Given the description of an element on the screen output the (x, y) to click on. 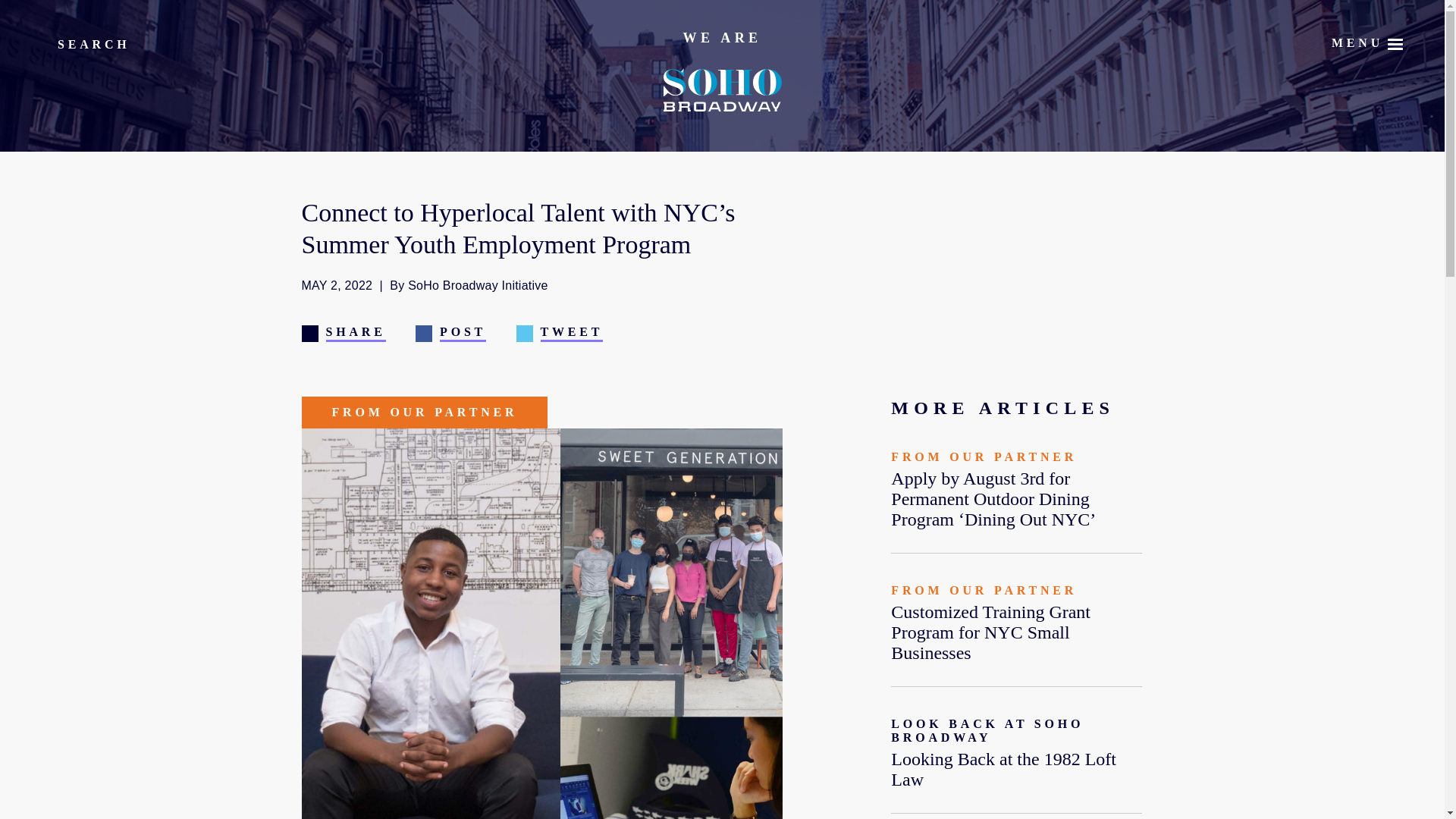
SHARE (343, 331)
MENU (1356, 40)
POST (450, 331)
FROM OUR PARTNER (424, 412)
TWEET (560, 331)
